Given the description of an element on the screen output the (x, y) to click on. 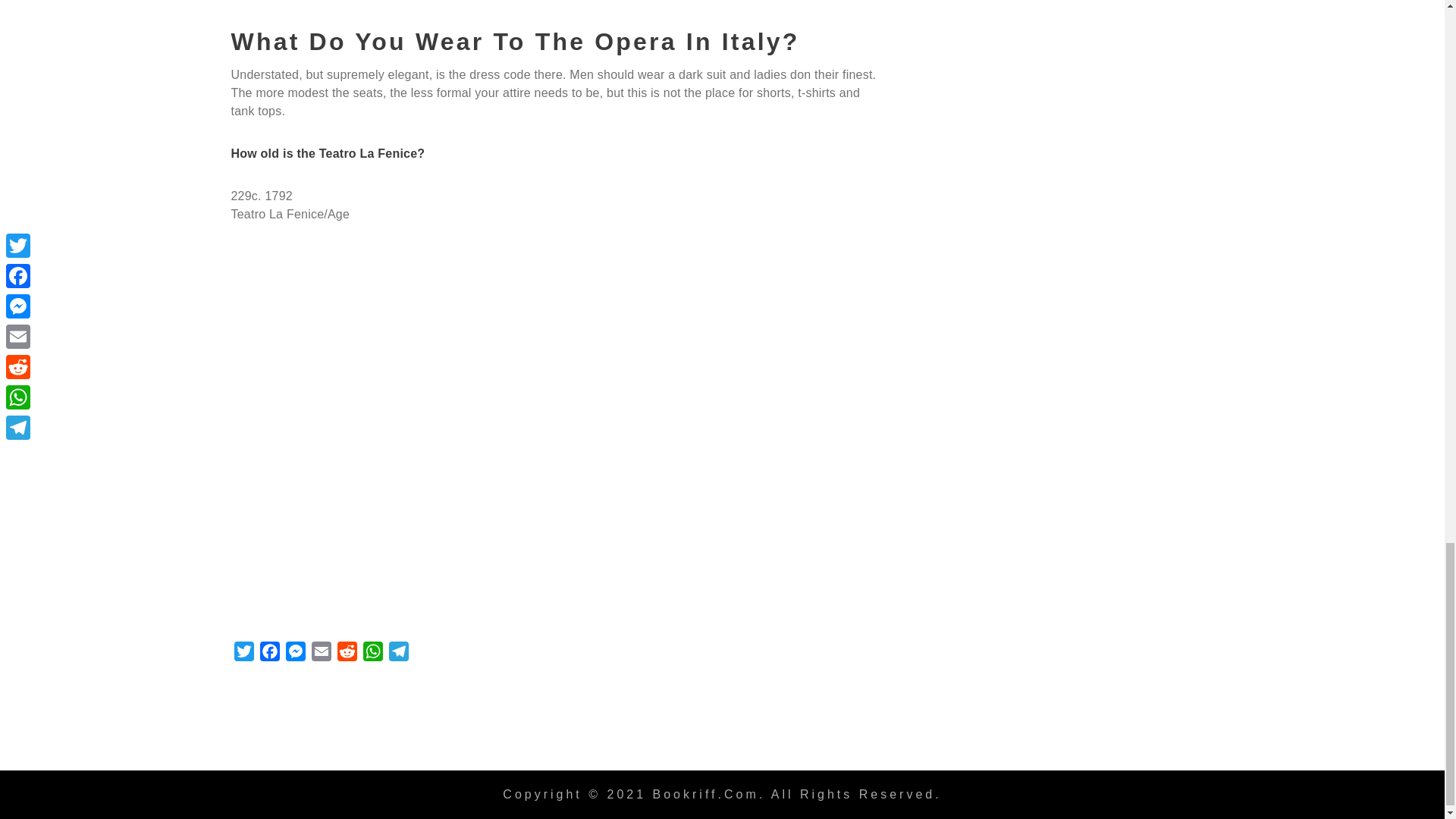
Email (320, 654)
Telegram (397, 654)
Twitter (243, 654)
WhatsApp (372, 654)
WhatsApp (372, 654)
Messenger (294, 654)
Email (320, 654)
Reddit (346, 654)
Telegram (397, 654)
Reddit (346, 654)
